Given the description of an element on the screen output the (x, y) to click on. 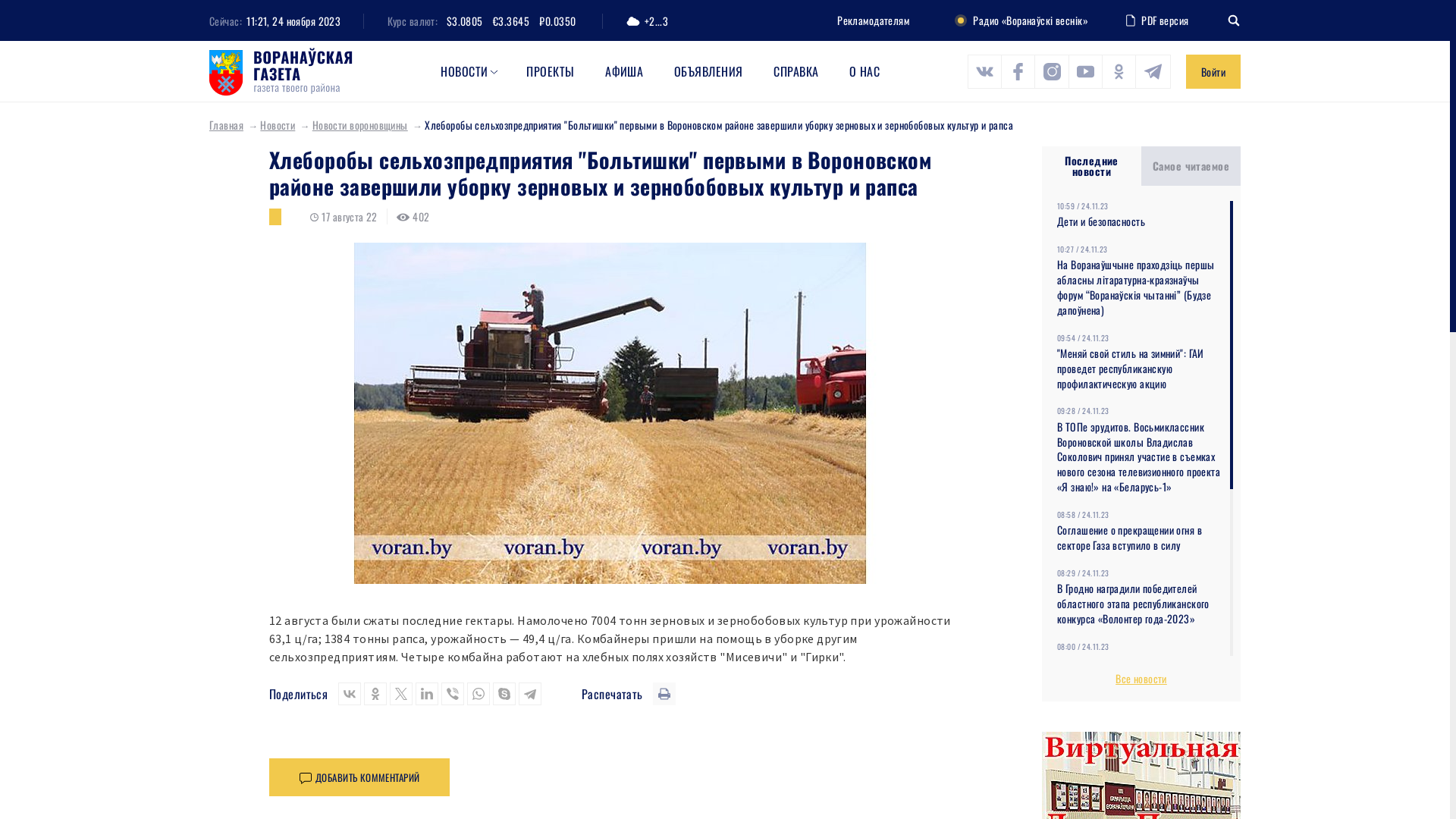
LinkedIn Element type: hover (426, 693)
Twitter Element type: hover (400, 693)
Skype Element type: hover (503, 693)
Viber Element type: hover (452, 693)
Telegram Element type: hover (529, 693)
WhatsApp Element type: hover (478, 693)
